Given the description of an element on the screen output the (x, y) to click on. 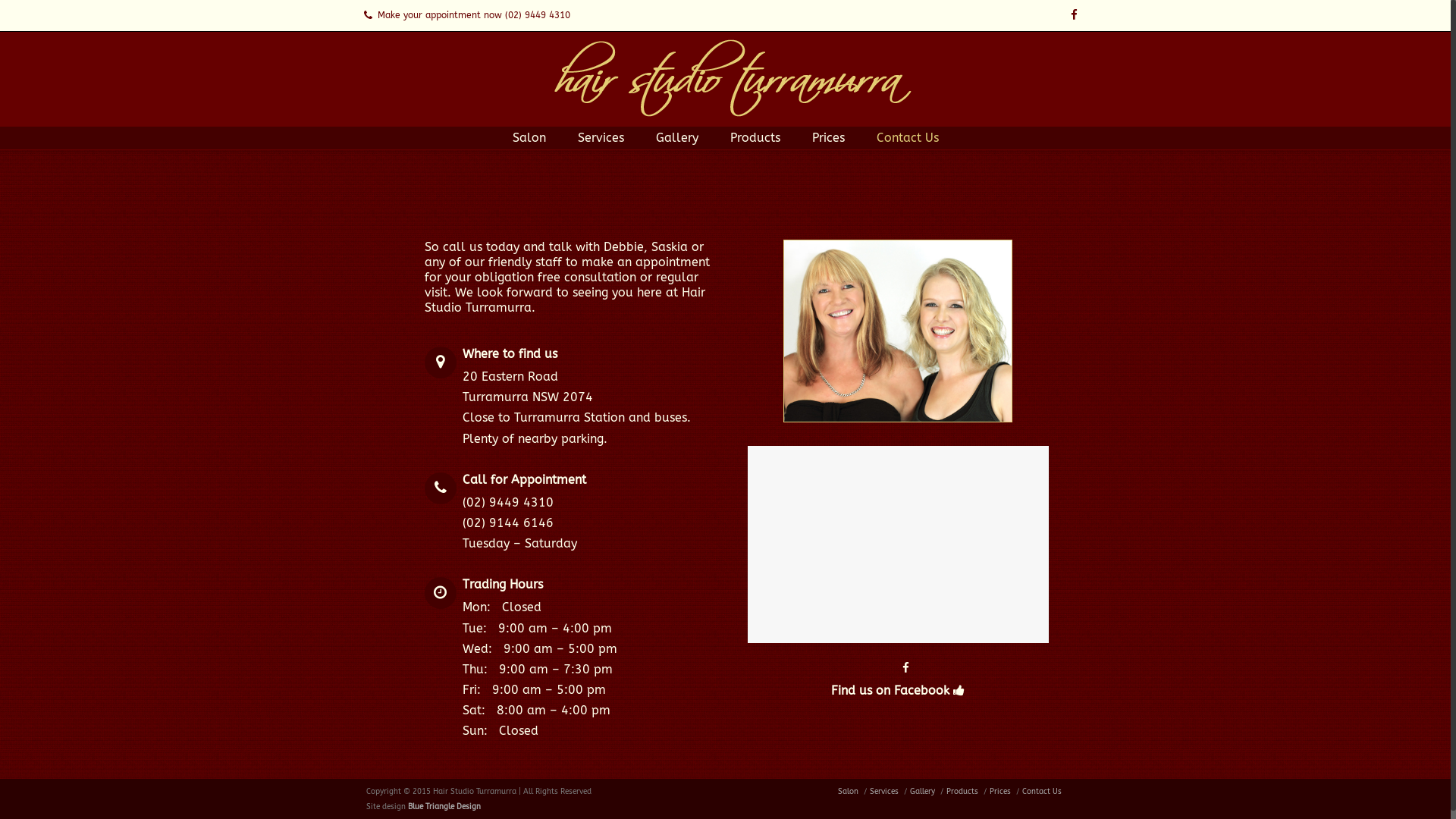
Blue Triangle Design Element type: text (443, 806)
Products Element type: text (962, 791)
Products Element type: text (754, 137)
Find us on Facebook Element type: text (890, 690)
Contact Us Element type: text (1041, 791)
Services Element type: text (883, 791)
Hair Studio Turramurra Element type: hover (732, 77)
Prices Element type: text (999, 791)
Gallery Element type: text (922, 791)
Contact Us Element type: text (907, 137)
Gallery Element type: text (676, 137)
Services Element type: text (600, 137)
Salon Element type: text (529, 137)
Prices Element type: text (827, 137)
Salon Element type: text (847, 791)
